Given the description of an element on the screen output the (x, y) to click on. 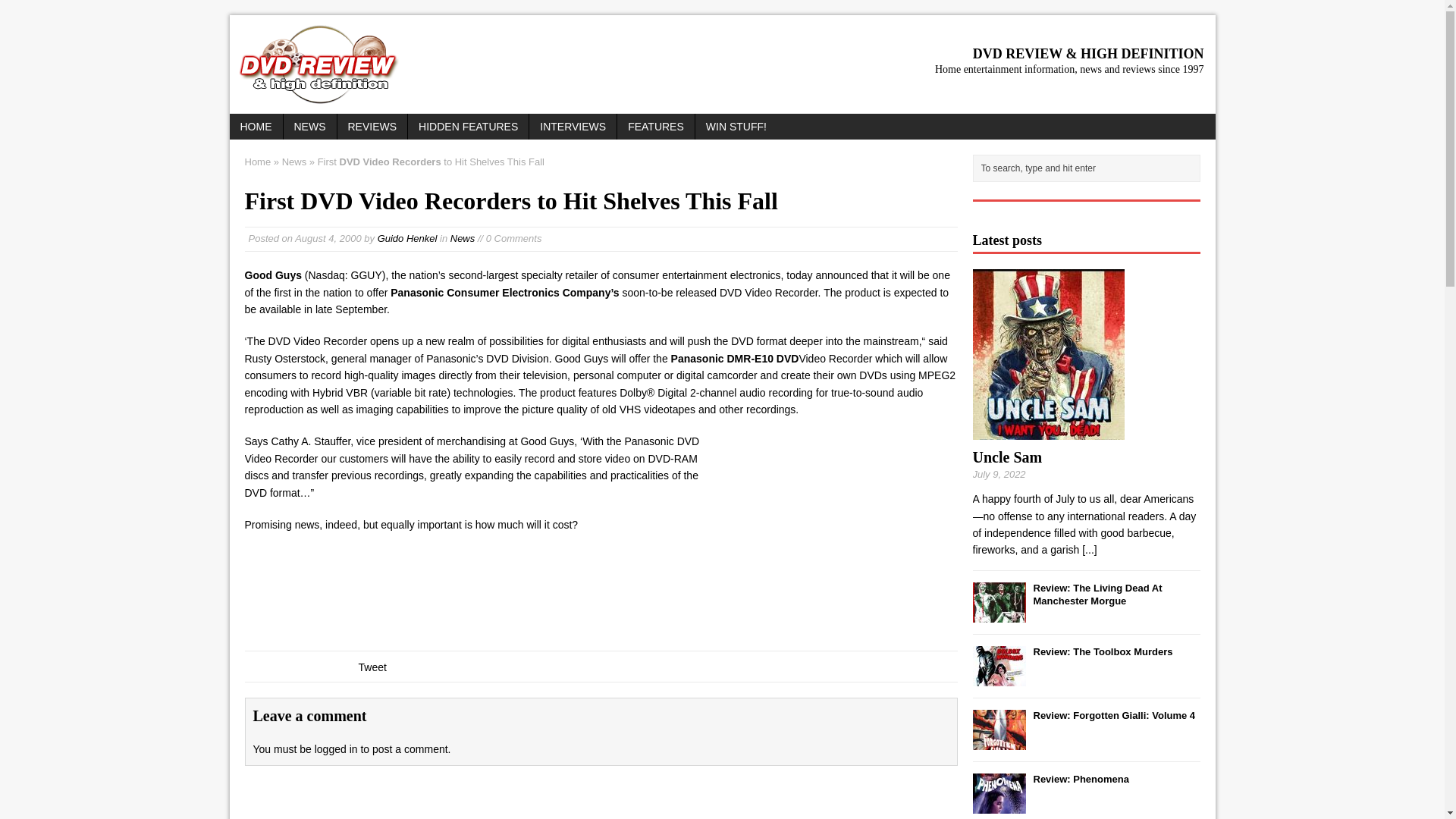
Forgotten Gialli: Volume 4 (1113, 715)
Forgotten Gialli: Volume 4 (998, 740)
Uncle Sam (1048, 431)
News (462, 238)
Review: The Living Dead At Manchester Morgue (1096, 594)
The Living Dead At Manchester Morgue (998, 613)
Phenomena (998, 804)
Review: Phenomena (1080, 778)
Review: The Toolbox Murders (1102, 651)
To search, type and hit enter (1089, 167)
